Given the description of an element on the screen output the (x, y) to click on. 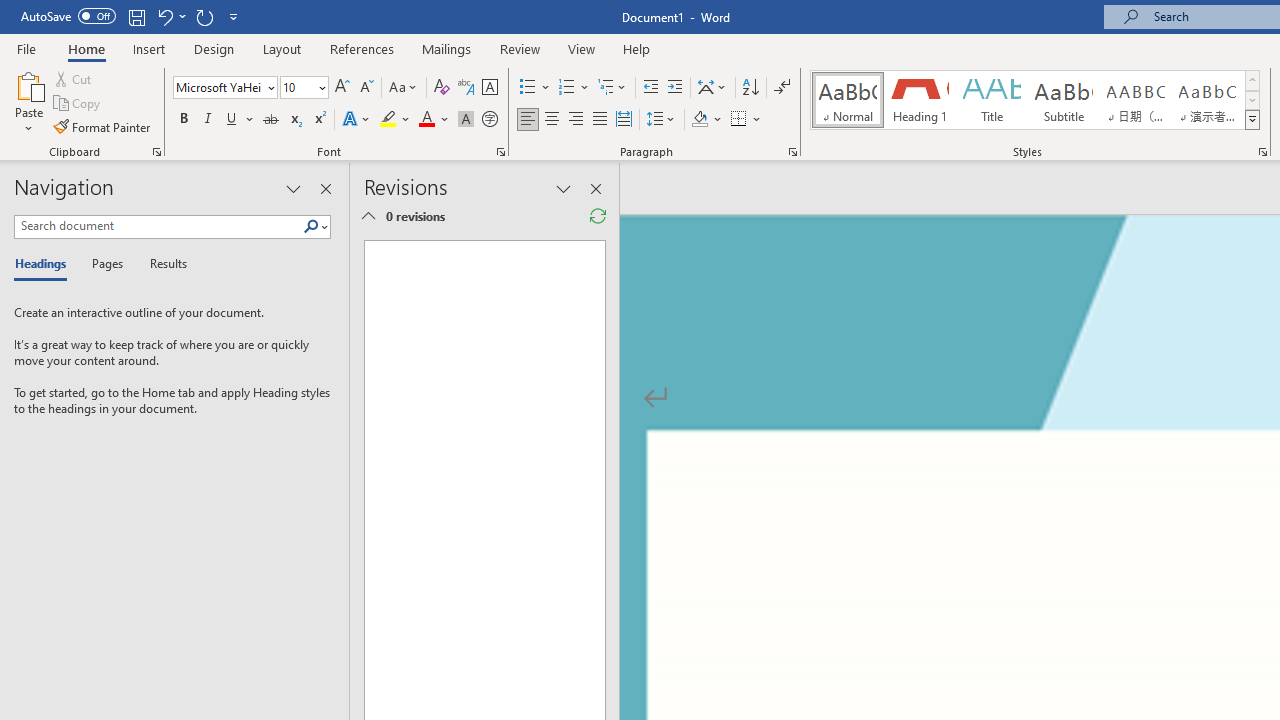
Heading 1 (920, 100)
